Given the description of an element on the screen output the (x, y) to click on. 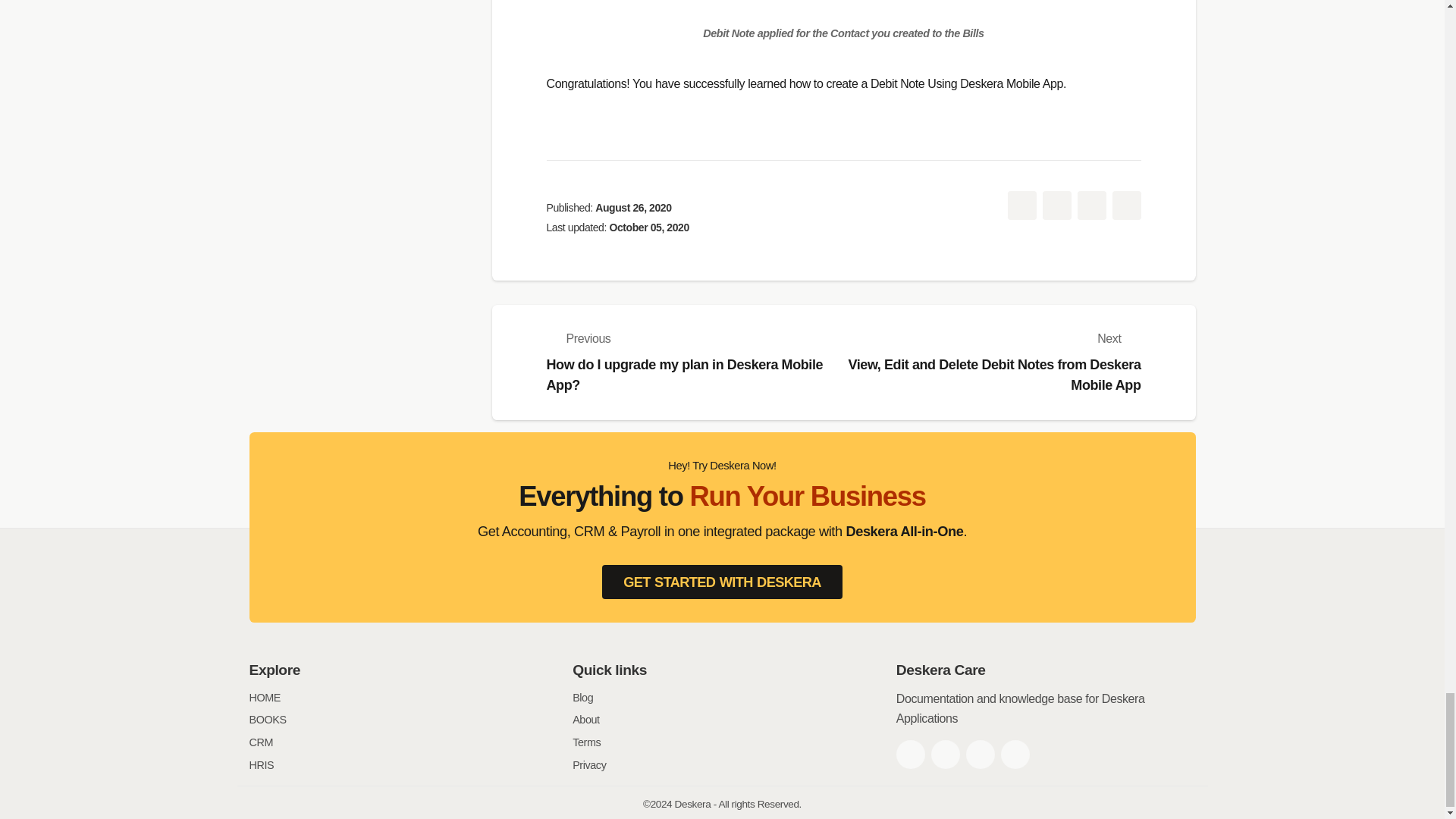
Facebook (910, 754)
Deskera YouTube (1015, 754)
Twitter (945, 754)
Deskera Linkedin (980, 754)
